Given the description of an element on the screen output the (x, y) to click on. 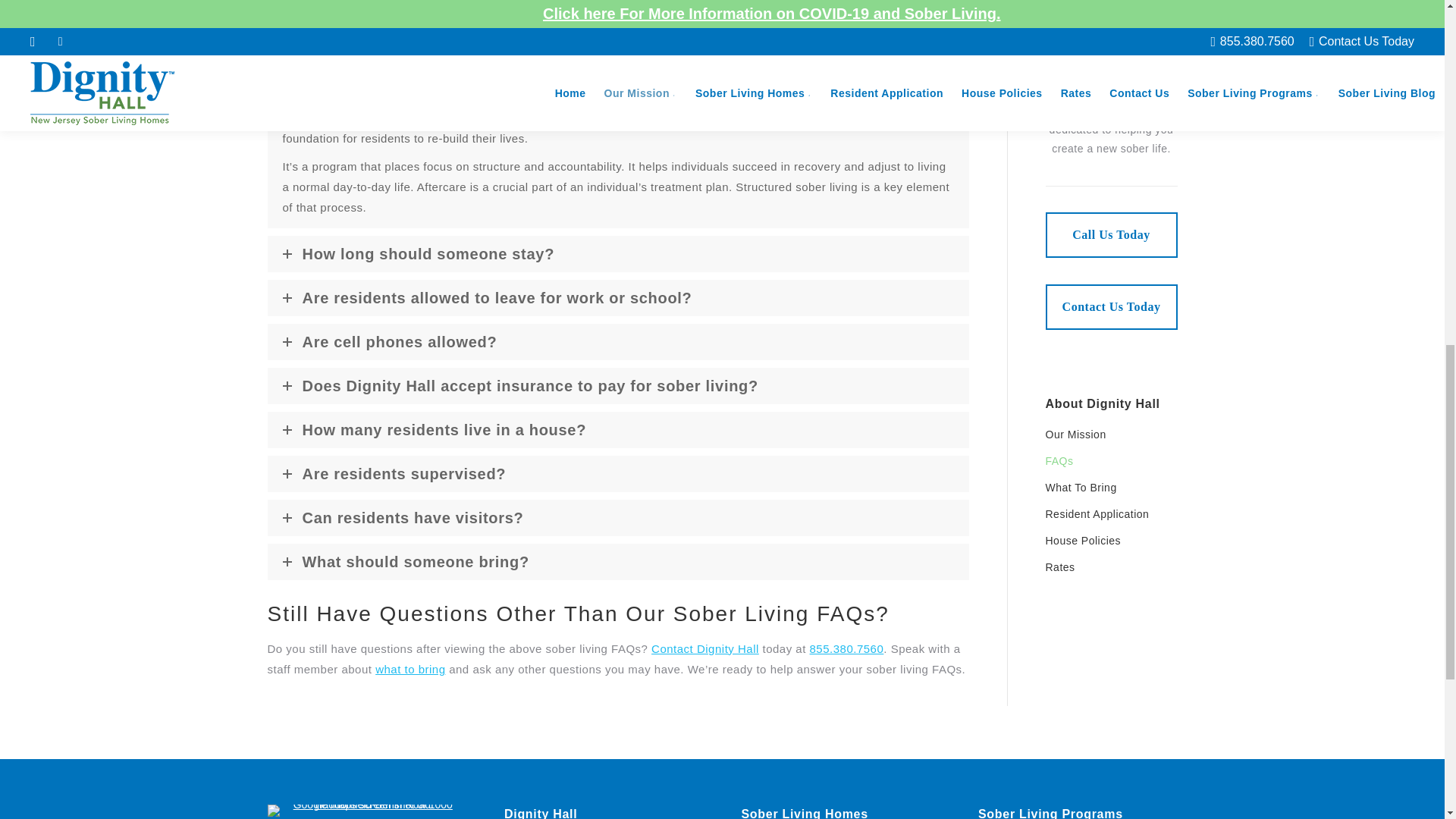
Contact Us (1110, 307)
